Given the description of an element on the screen output the (x, y) to click on. 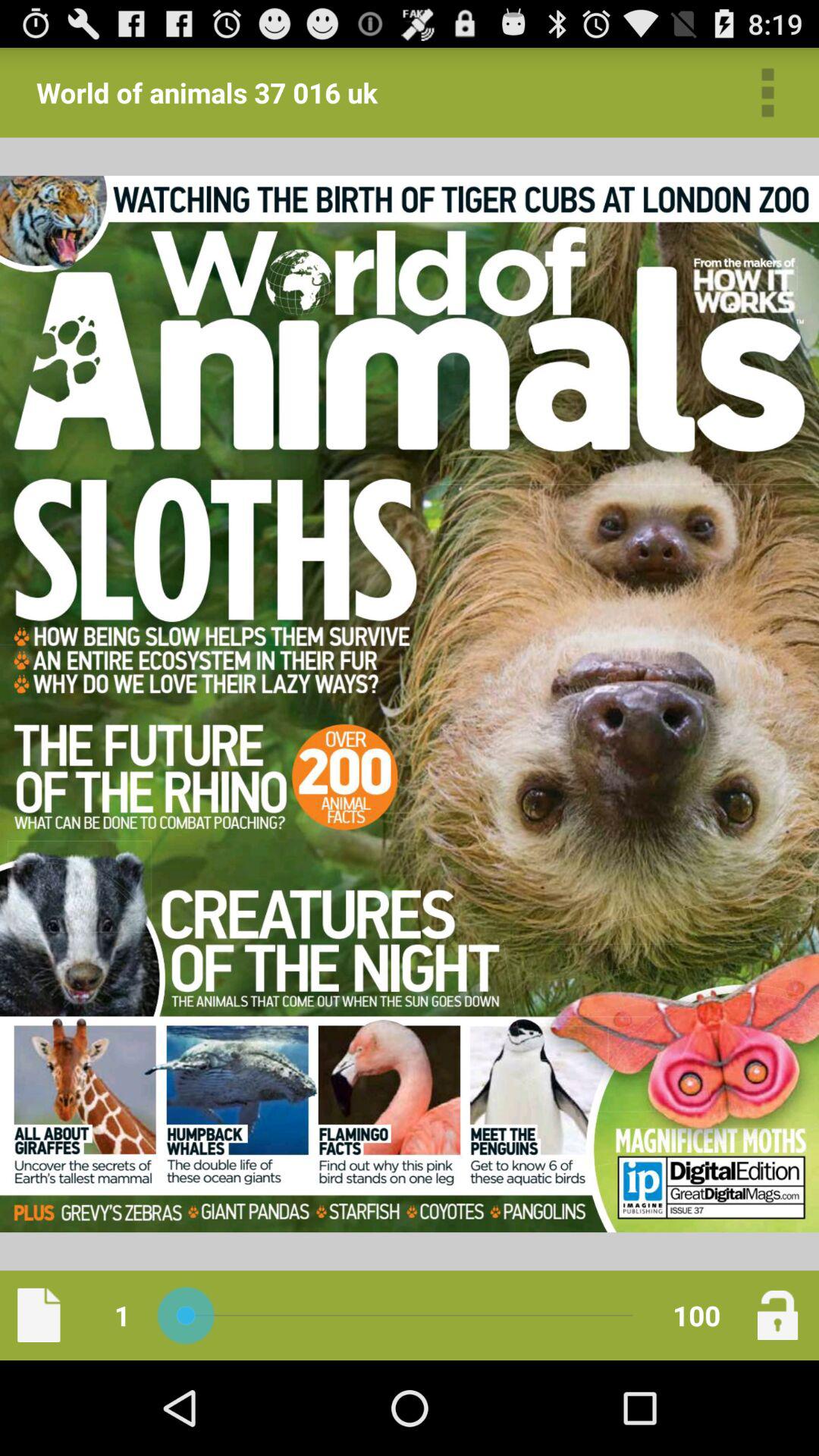
go settings (767, 92)
